Given the description of an element on the screen output the (x, y) to click on. 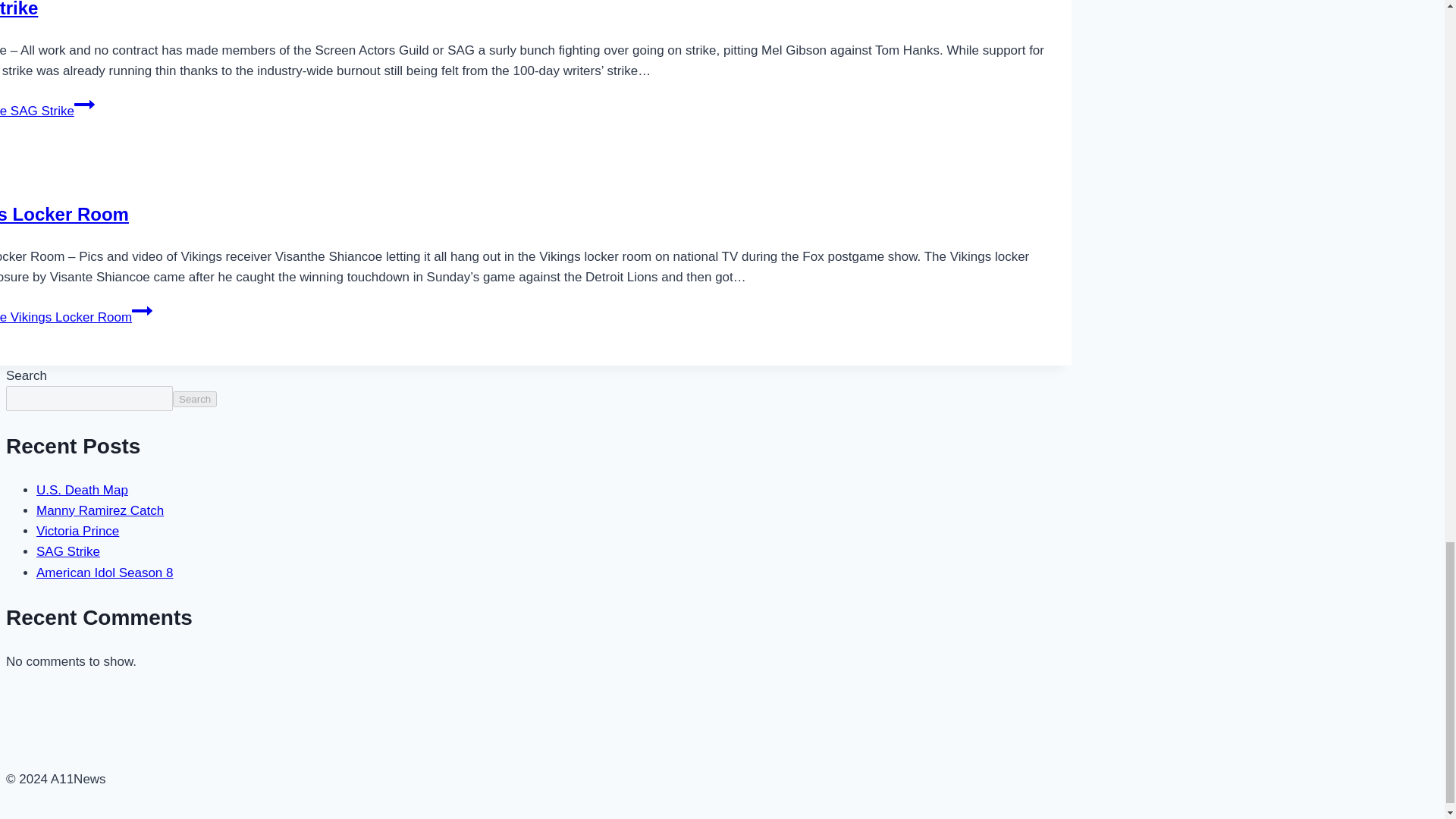
Vikings Locker Room (64, 213)
SAG Strike (18, 9)
American Idol Season 8 (104, 572)
U.S. Death Map (82, 490)
Read More SAG StrikeContinue (47, 110)
Manny Ramirez Catch (99, 510)
Continue (84, 104)
Continue (142, 310)
Victoria Prince (77, 531)
Read More Vikings Locker RoomContinue (76, 317)
Search (194, 399)
SAG Strike (68, 551)
